Given the description of an element on the screen output the (x, y) to click on. 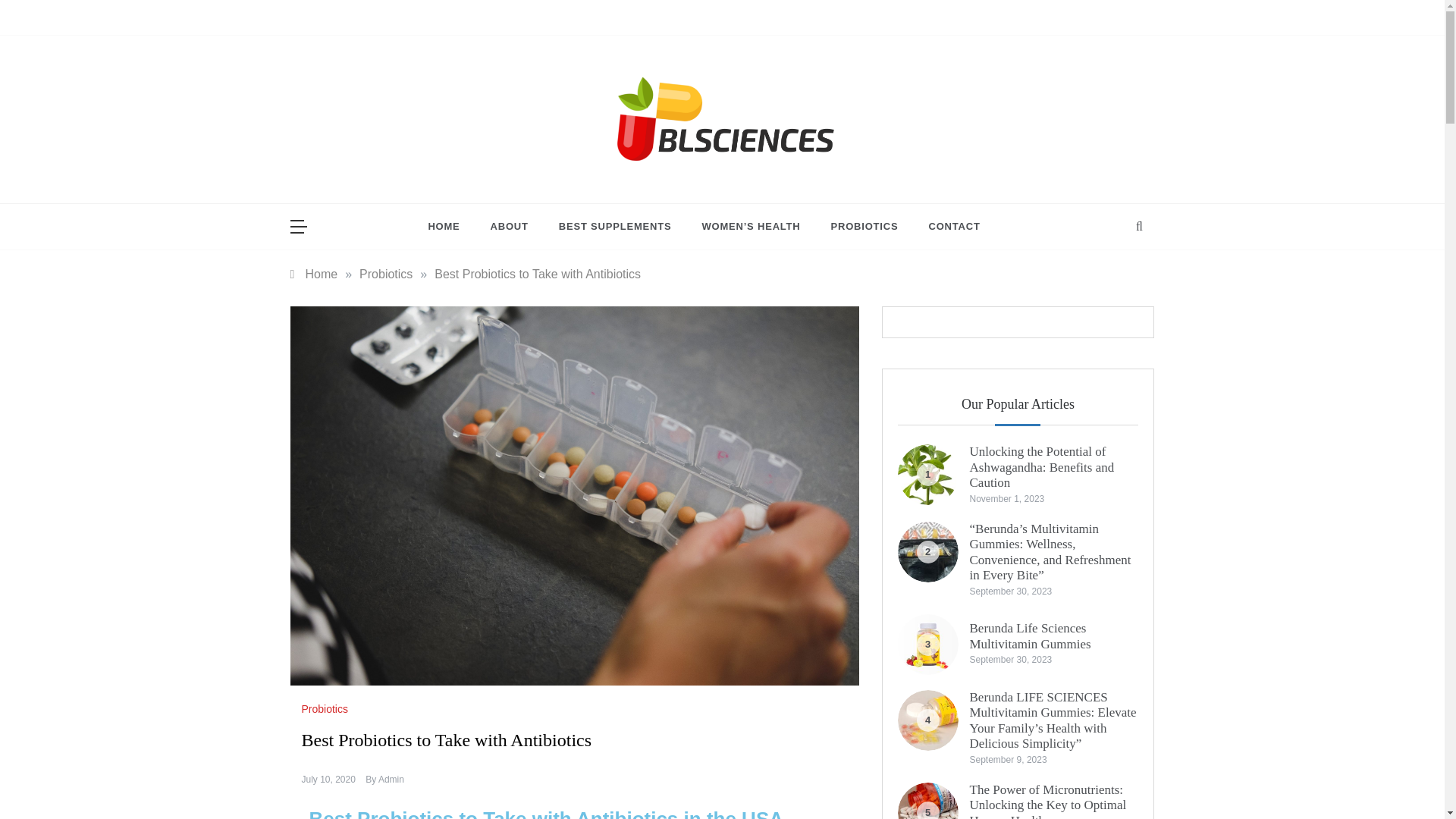
ABOUT (509, 226)
Home (313, 273)
CONTACT (945, 226)
BEST SUPPLEMENTS (615, 226)
Probiotics (326, 708)
July 10, 2020 (328, 778)
Blsciences (616, 177)
Probiotics (385, 273)
Admin (391, 778)
HOME (451, 226)
Best Probiotics to Take with Antibiotics (536, 273)
PROBIOTICS (864, 226)
